Given the description of an element on the screen output the (x, y) to click on. 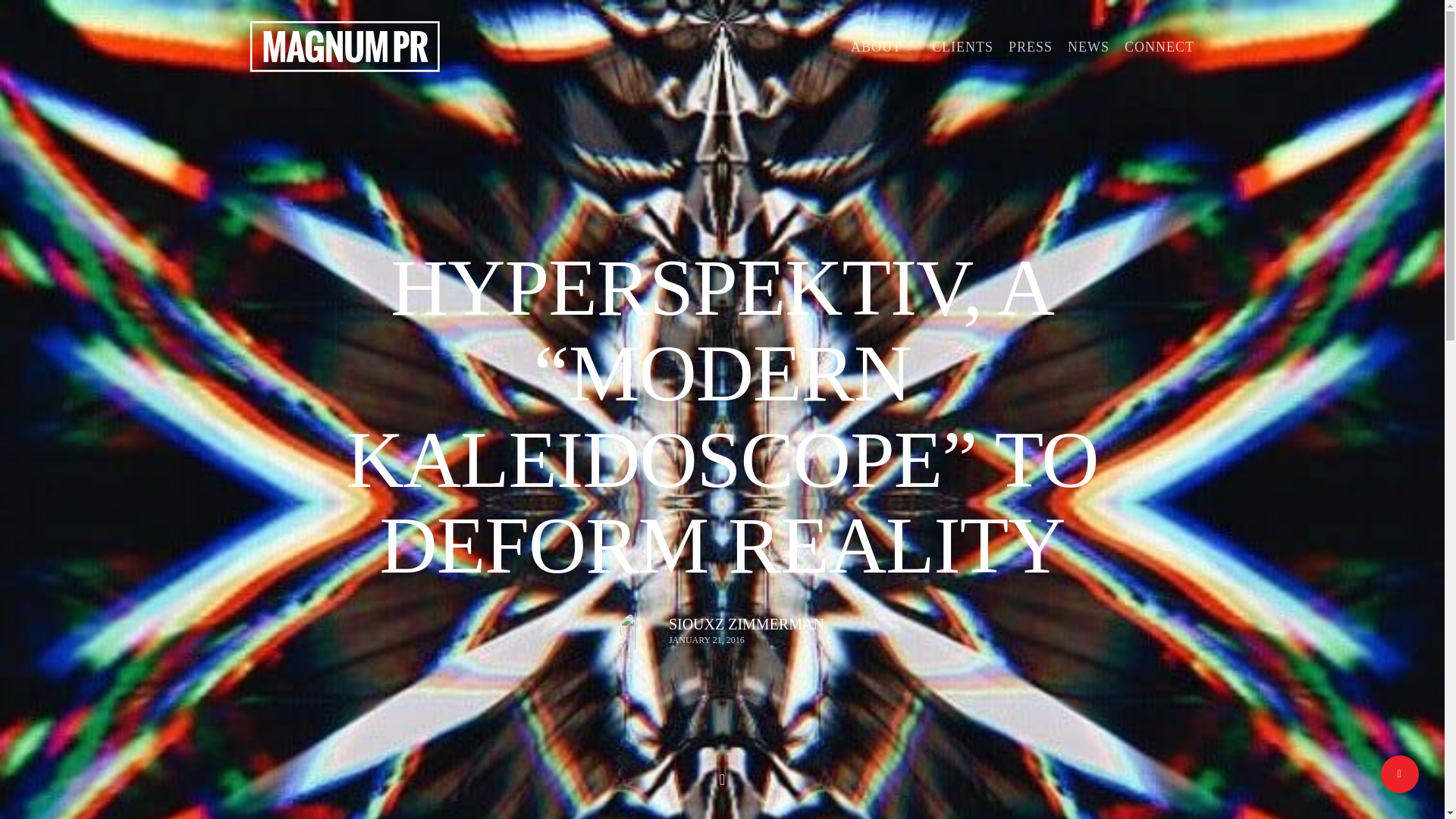
CONNECT (1158, 47)
Posts by SiouxZ Zimmerman (746, 623)
SIOUXZ ZIMMERMAN (746, 623)
PRESS (1030, 47)
CLIENTS (961, 47)
ABOUT (883, 47)
by Lion's Share Digital (430, 774)
NEWS (1088, 47)
GO (783, 696)
Website Design (358, 774)
